Given the description of an element on the screen output the (x, y) to click on. 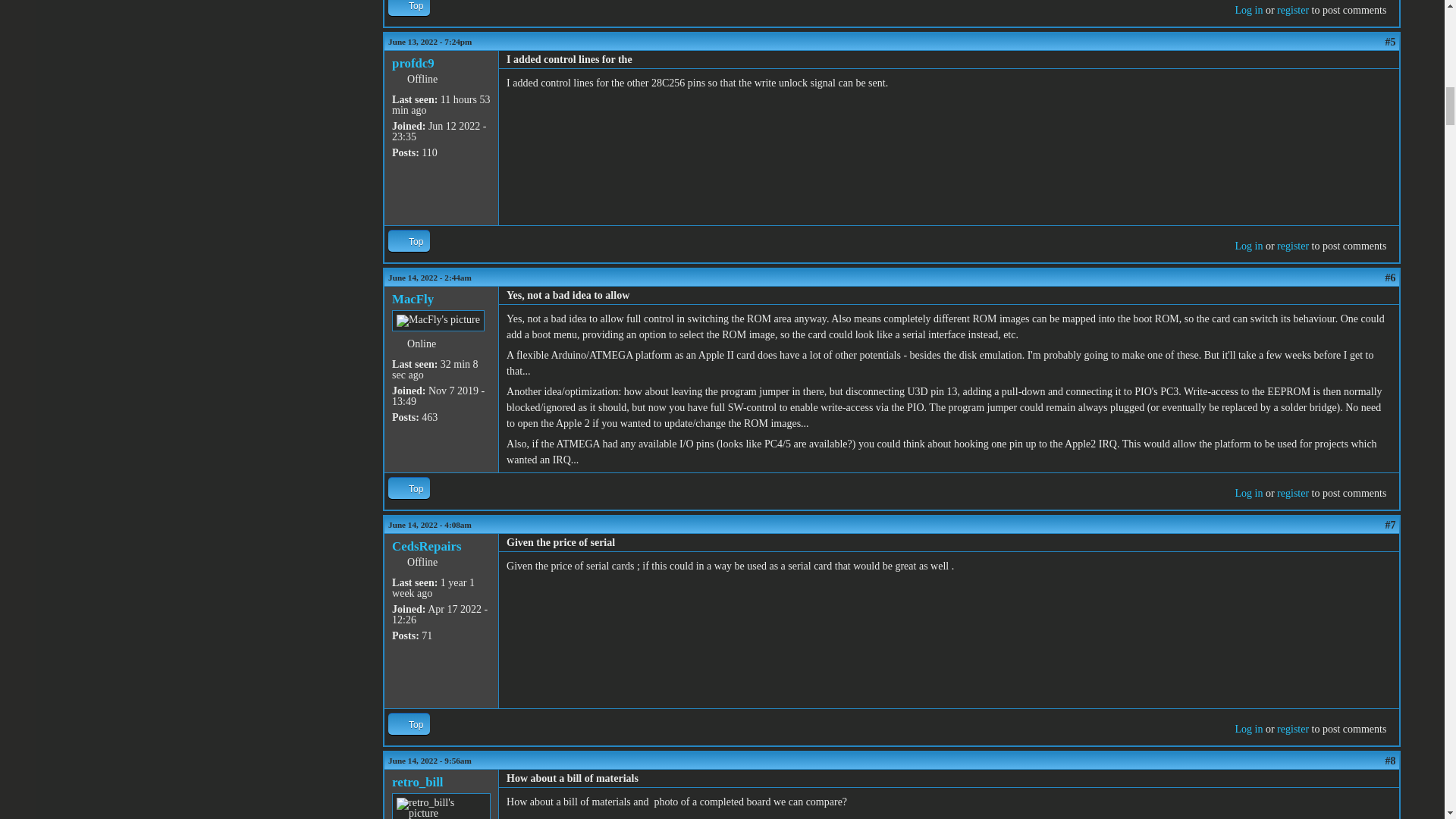
Jump to top of page (408, 723)
View user profile. (412, 63)
Jump to top of page (408, 487)
Jump to top of page (408, 7)
register (1292, 9)
Top (408, 7)
View user profile. (412, 298)
Jump to top of page (408, 240)
MacFly's picture (437, 320)
View user profile. (426, 545)
Log in (1248, 9)
